Given the description of an element on the screen output the (x, y) to click on. 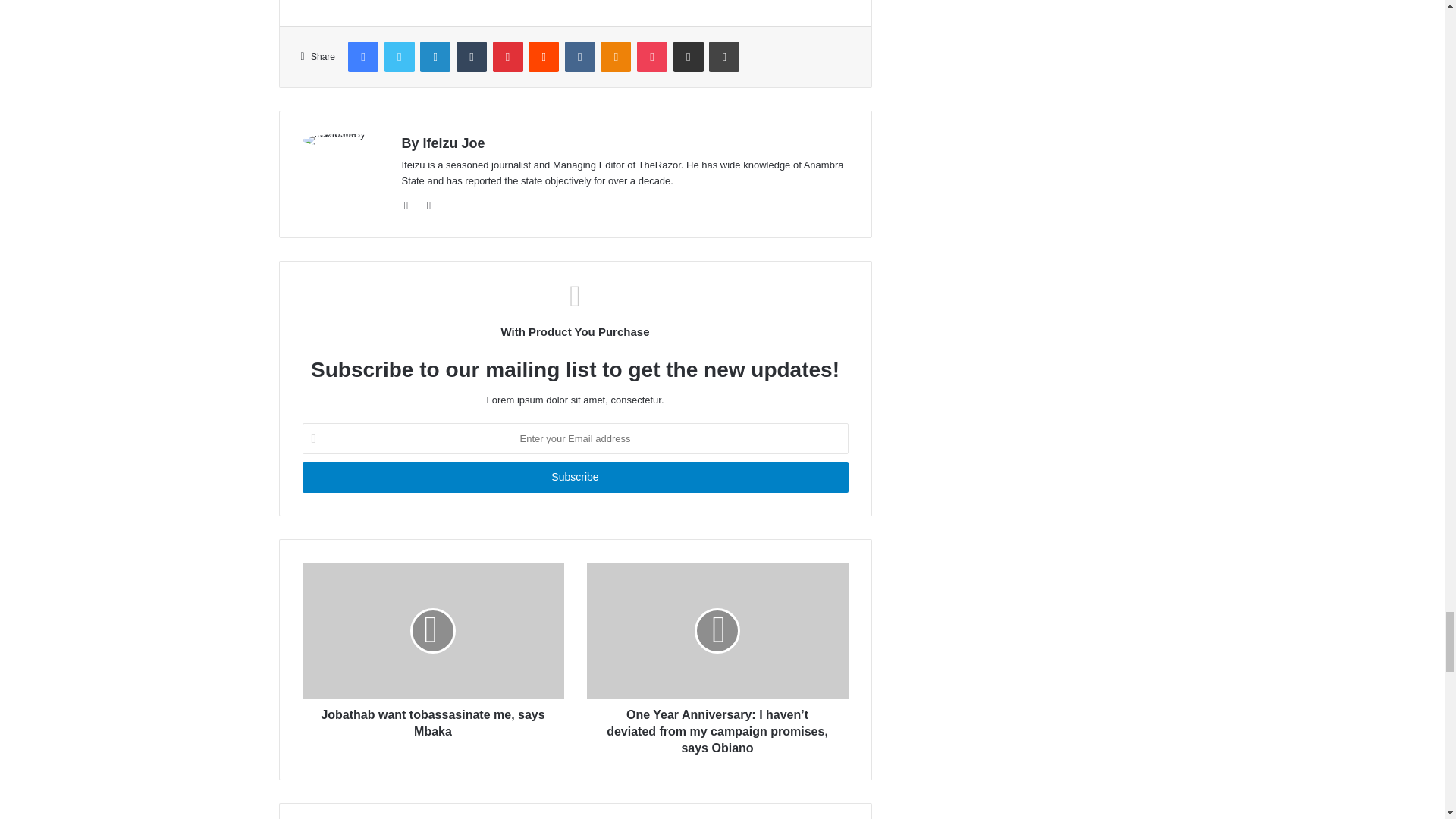
Subscribe (574, 477)
